Given the description of an element on the screen output the (x, y) to click on. 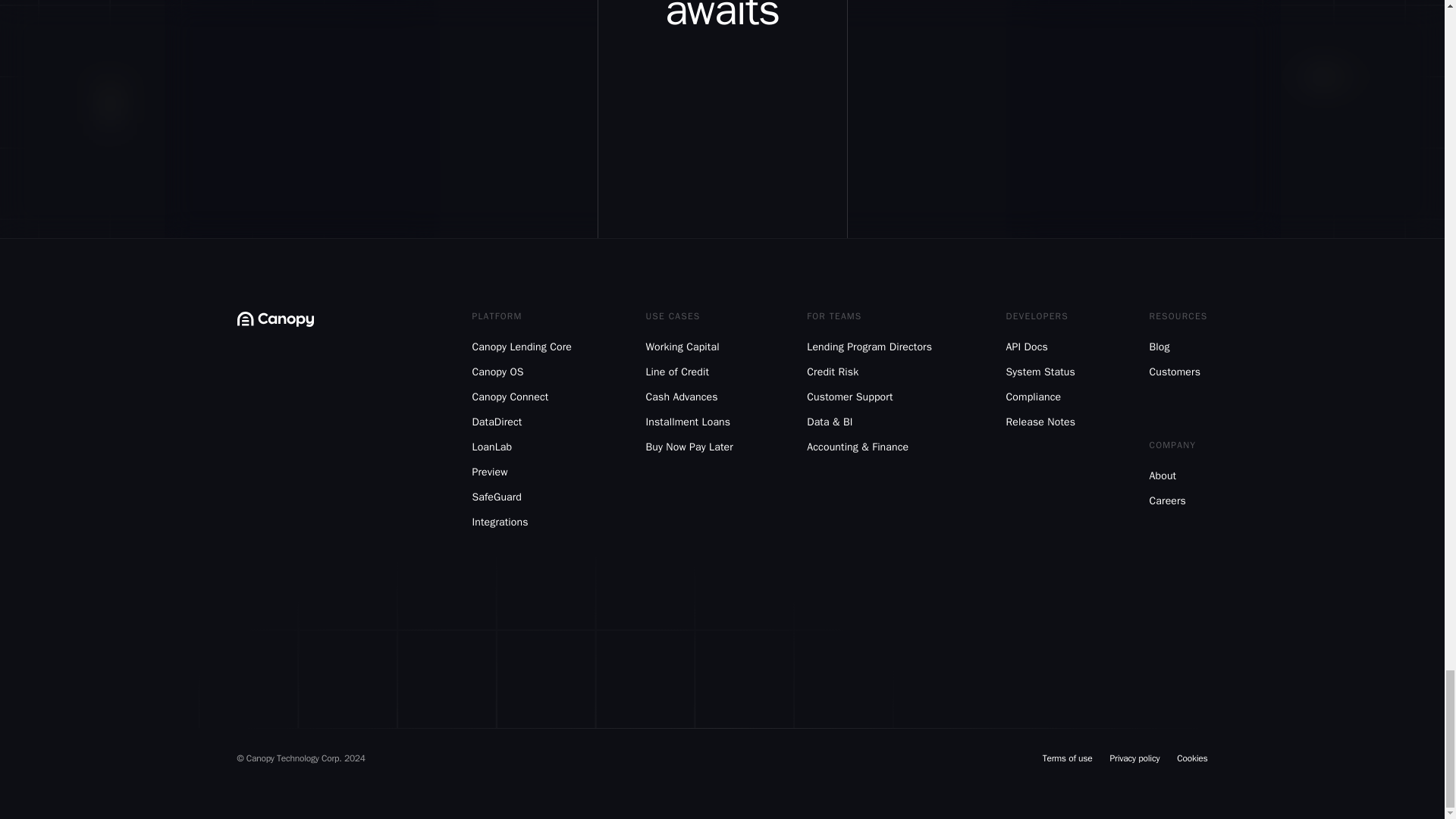
Installment Loans (688, 421)
Lending Program Directors (868, 346)
Cash Advances (688, 396)
Preview (521, 471)
Integrations (521, 521)
Canopy Connect (521, 396)
Working Capital (688, 346)
Canopy OS (521, 371)
Customer Support (868, 396)
LoanLab (521, 446)
